Given the description of an element on the screen output the (x, y) to click on. 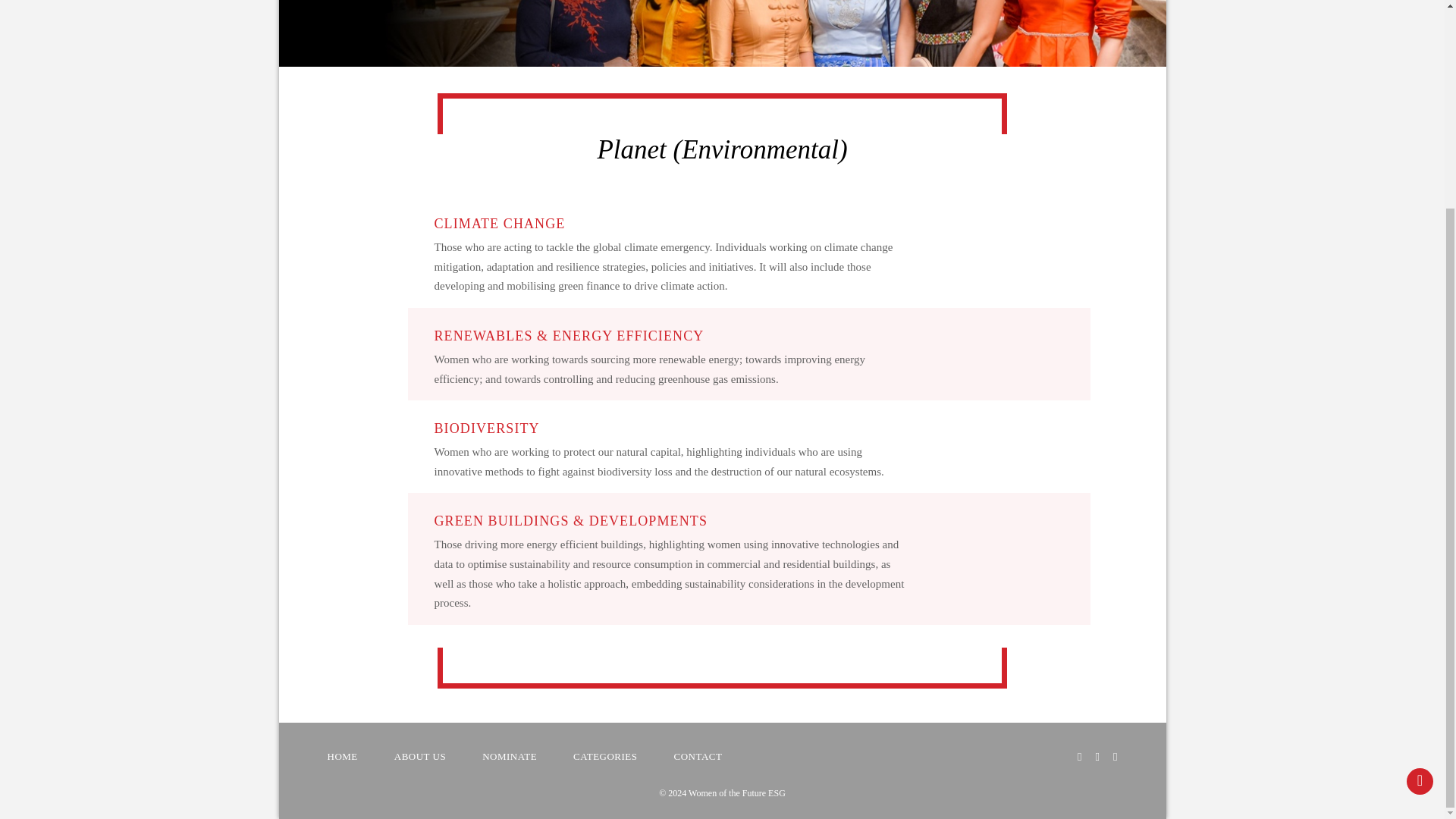
CLIMATE CHANGE (498, 223)
HOME (342, 756)
CATEGORIES (605, 756)
HOMEABOUT USNOMINATECATEGORIESCONTACT (620, 757)
CONTACT (698, 756)
ABOUT US (419, 756)
Women of the Future ESG (734, 792)
NOMINATE (509, 756)
Women of the Future ESG (734, 792)
BIODIVERSITY (485, 427)
